Given the description of an element on the screen output the (x, y) to click on. 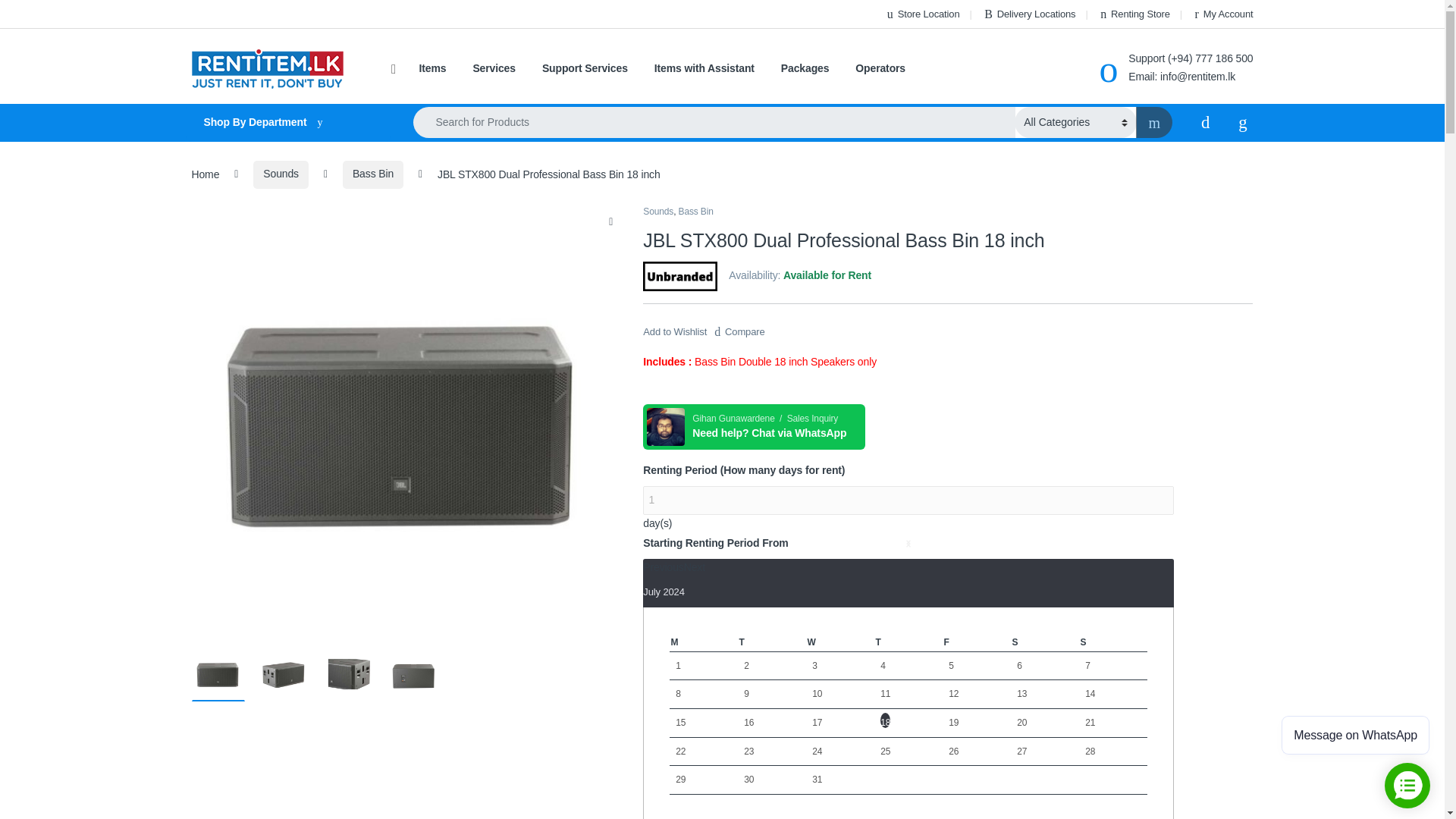
Operators (880, 68)
Services (493, 68)
Renting Store (1133, 13)
Delivery Locations (1028, 13)
 My Account (1222, 13)
Packages (804, 68)
 Store Location (921, 13)
My Account (1222, 13)
Shop By Department (287, 122)
1 (908, 500)
Items with Assistant (703, 68)
Store Location (921, 13)
 Renting Store (1133, 13)
 Delivery Locations (1028, 13)
Items (432, 68)
